Given the description of an element on the screen output the (x, y) to click on. 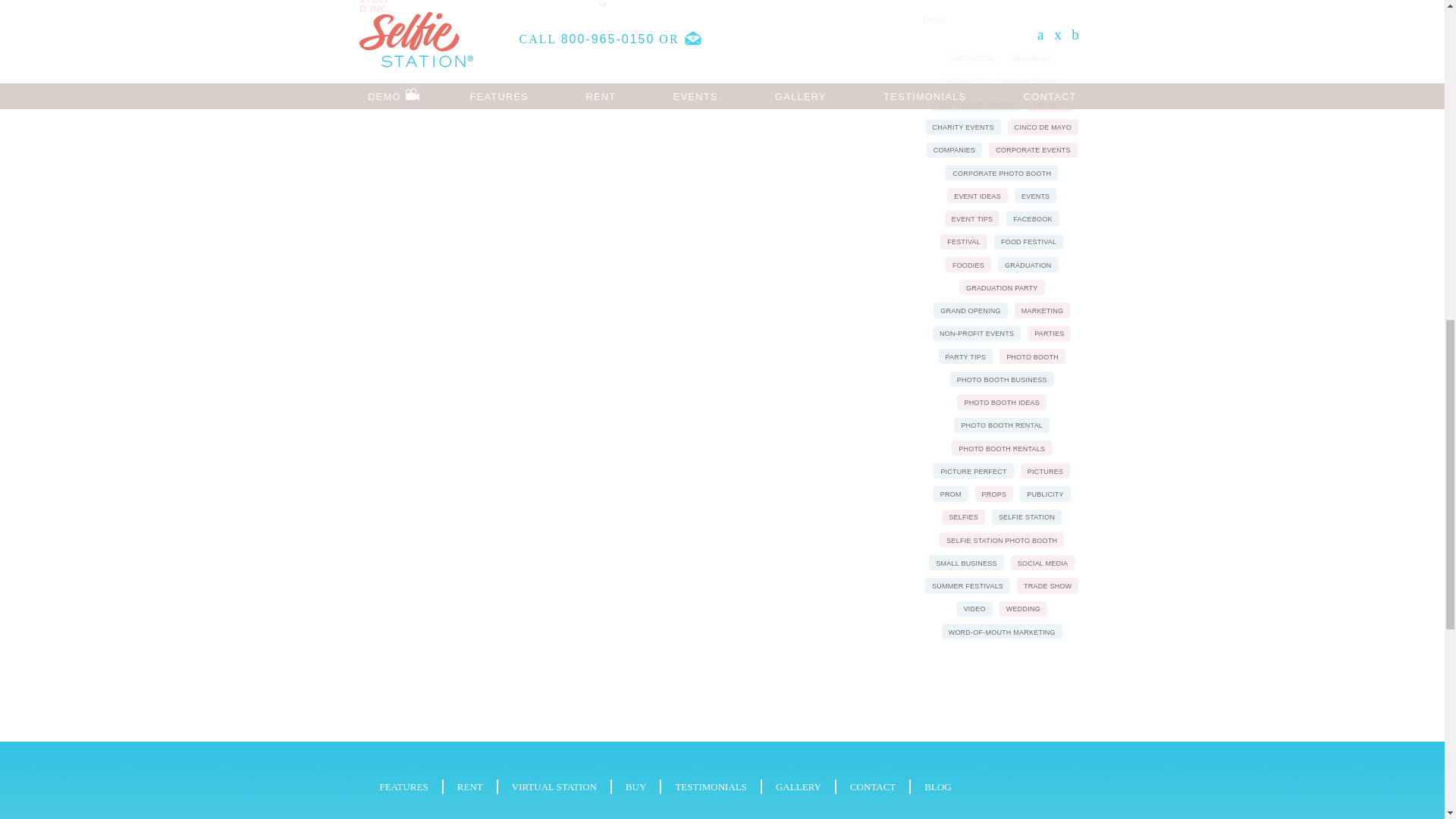
CINCO DE MAYO (1042, 126)
BRANDING (1031, 58)
CORPORATE EVENTS (1032, 150)
CORPORATE PHOTO BOOTH (1001, 172)
EVENT IDEAS (977, 195)
EVENT TIPS (971, 218)
ACTIVITIES (972, 58)
FOOD FESTIVAL (1028, 241)
EVENTS (1035, 195)
BUY A PHOTO BOOTH (975, 103)
